Given the description of an element on the screen output the (x, y) to click on. 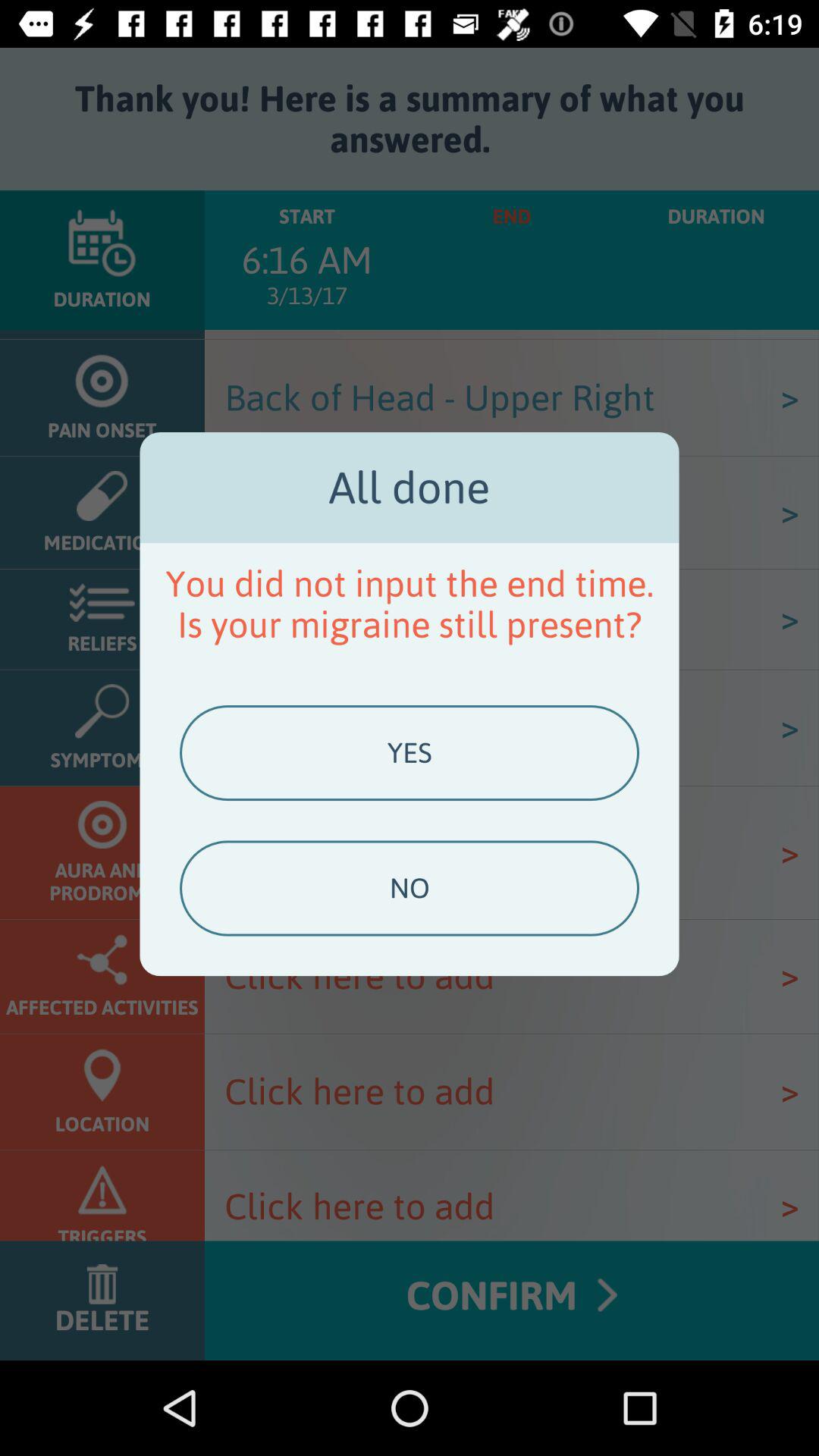
launch the button below yes icon (409, 888)
